Given the description of an element on the screen output the (x, y) to click on. 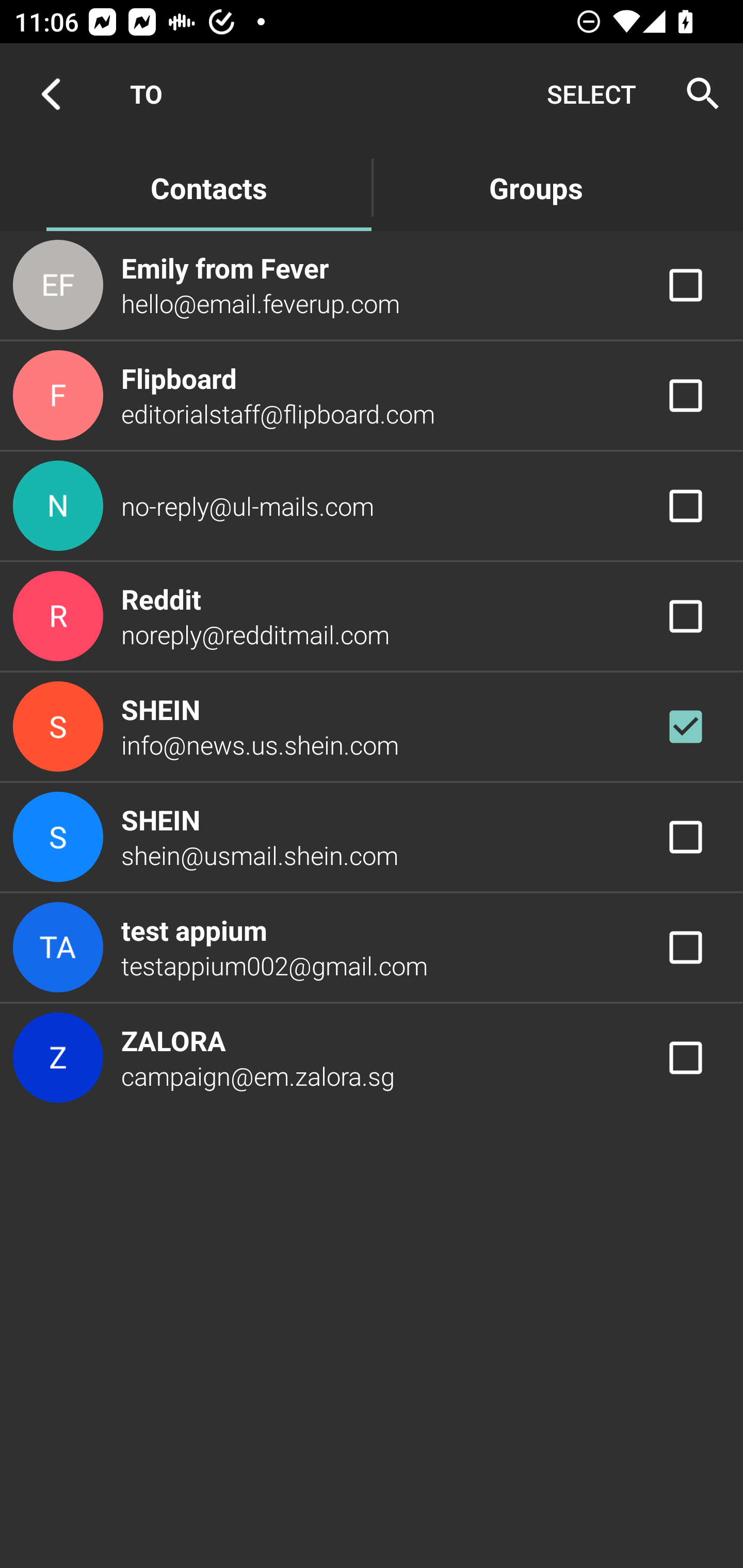
Navigate up (50, 93)
SELECT (590, 93)
Search (696, 93)
Contacts (208, 187)
Groups (535, 187)
Emily from Fever hello@email.feverup.com (371, 284)
Flipboard editorialstaff@flipboard.com (371, 395)
no-reply@ul-mails.com (371, 505)
Reddit noreply@redditmail.com (371, 616)
SHEIN info@news.us.shein.com (371, 726)
SHEIN shein@usmail.shein.com (371, 836)
test appium testappium002@gmail.com (371, 947)
ZALORA campaign@em.zalora.sg (371, 1057)
